Given the description of an element on the screen output the (x, y) to click on. 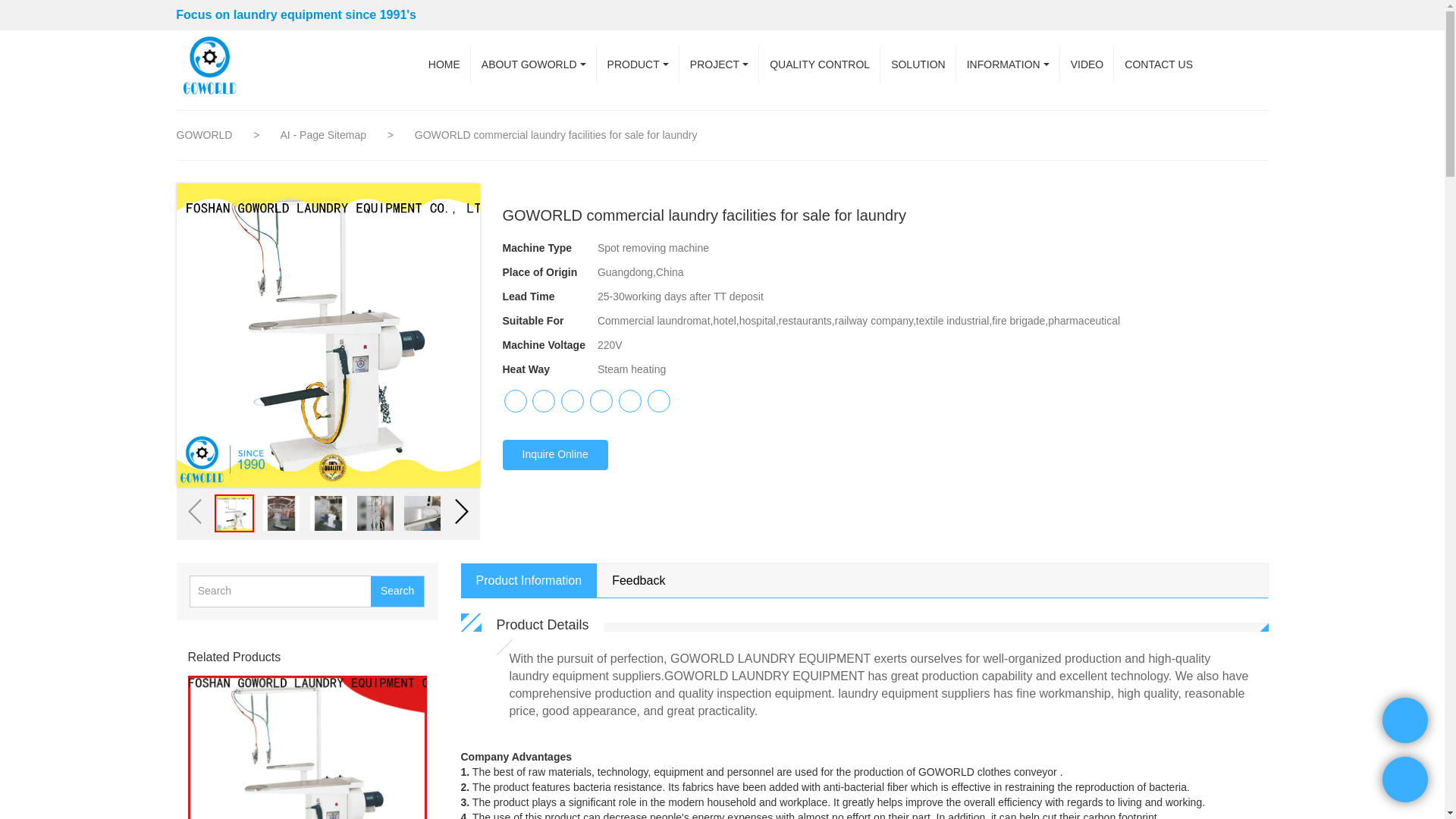
PROJECT (718, 64)
PRODUCT (637, 64)
VIDEO (1087, 64)
GOWORLD (203, 134)
SOLUTION (918, 64)
INFORMATION (1007, 64)
ABOUT GOWORLD (533, 64)
QUALITY CONTROL (819, 64)
HOME (443, 64)
CONTACT US (1158, 64)
AI - Page Sitemap (324, 134)
